Given the description of an element on the screen output the (x, y) to click on. 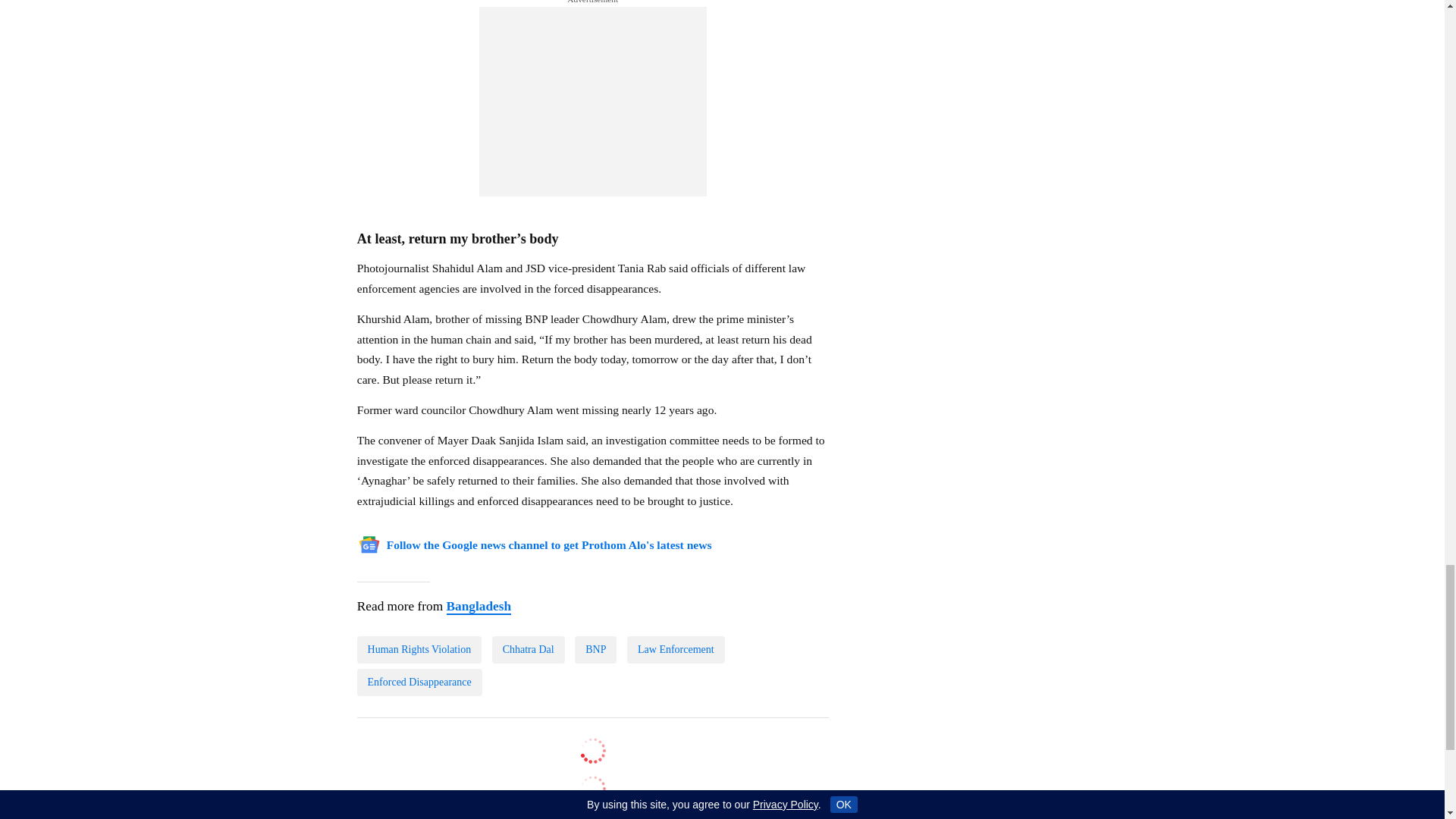
Bangladesh (478, 606)
Chhatra Dal (528, 649)
Human Rights Violation (418, 649)
